Given the description of an element on the screen output the (x, y) to click on. 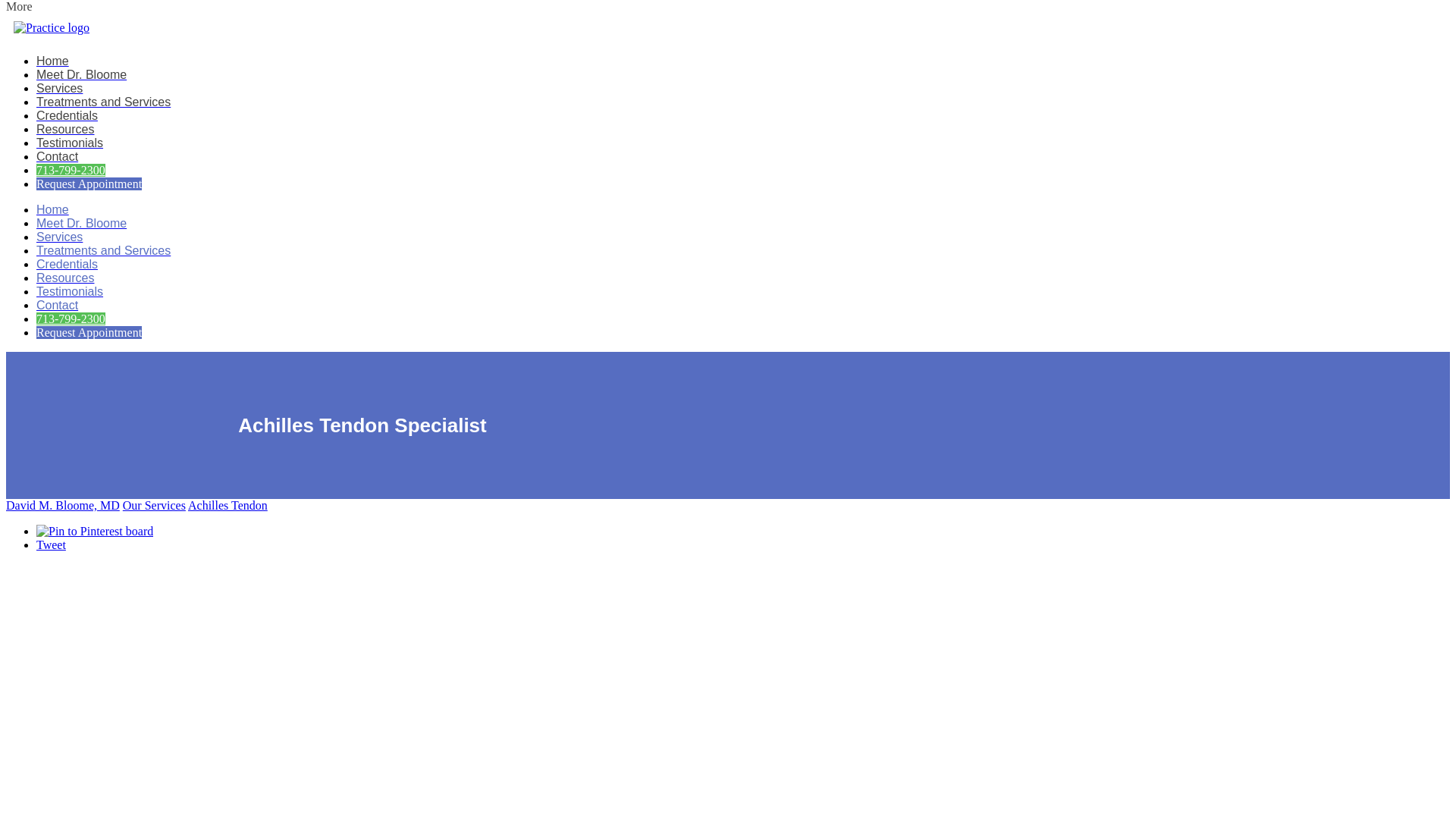
Meet Dr. Bloome (81, 74)
713-799-2300 (70, 318)
Services (59, 236)
Contact (57, 155)
Resources (65, 277)
Credentials (66, 264)
Our Services (154, 504)
David M. Bloome, MD (62, 504)
Testimonials (69, 291)
Credentials (66, 115)
Treatments and Services (103, 250)
Testimonials (69, 142)
Services (59, 88)
713-799-2300 (70, 169)
